Given the description of an element on the screen output the (x, y) to click on. 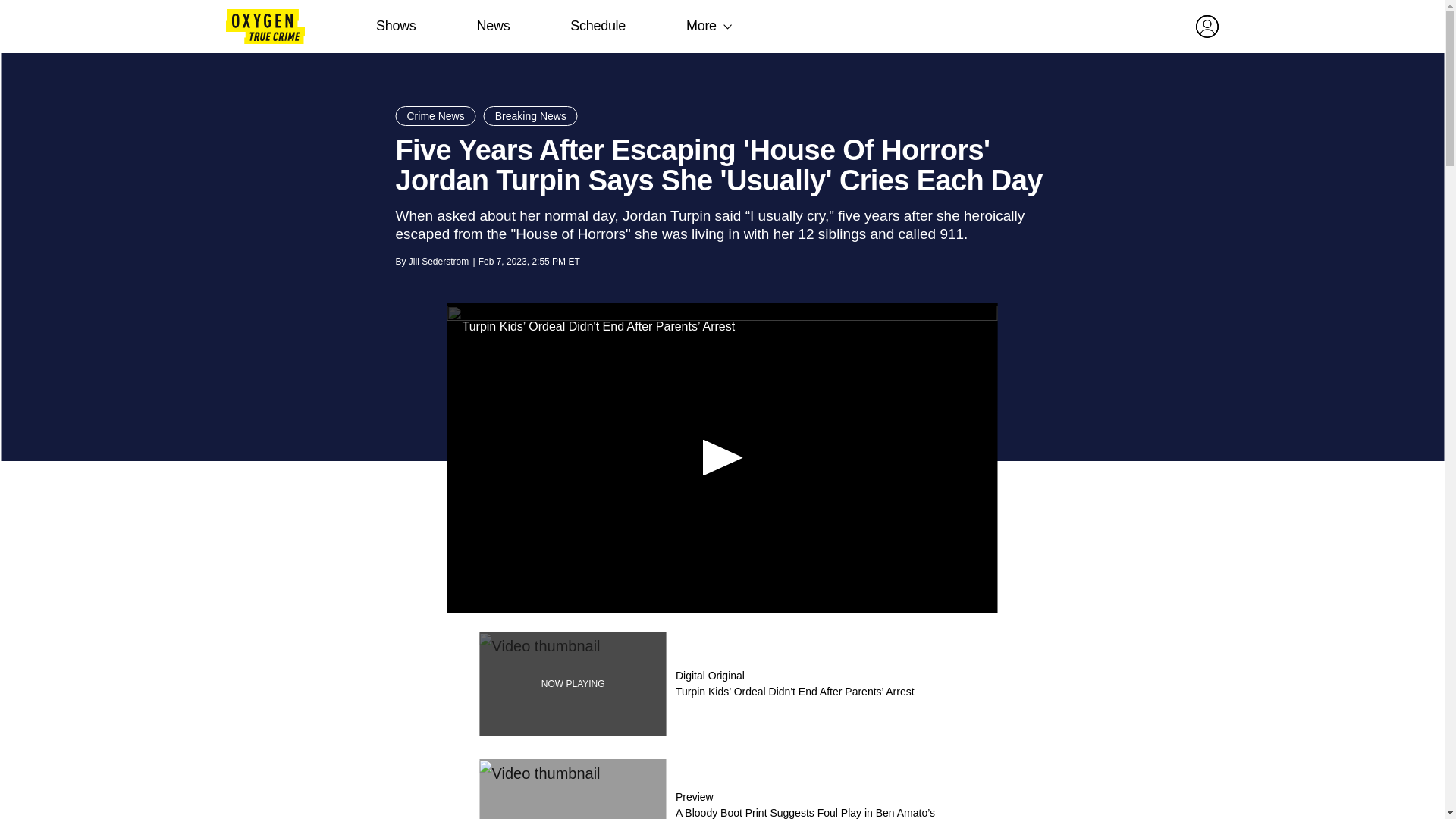
Shows (395, 26)
News (492, 26)
More (700, 26)
Crime News (436, 116)
Jill Sederstrom (438, 261)
Schedule (598, 26)
Breaking News (530, 116)
